Given the description of an element on the screen output the (x, y) to click on. 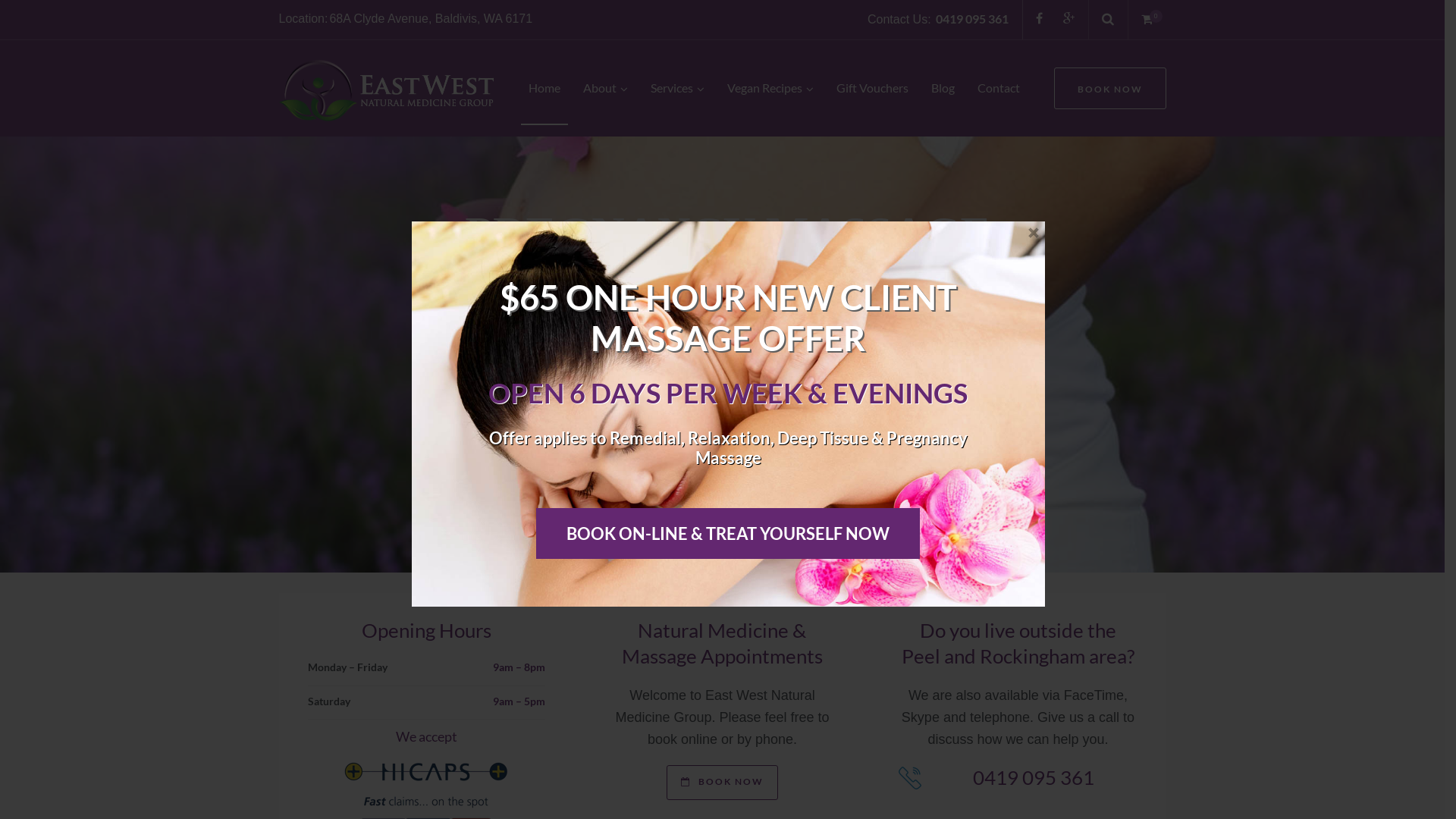
About Element type: text (604, 87)
Services Element type: text (677, 87)
BOOK NOW Element type: text (722, 782)
Home Element type: text (543, 87)
Gift Vouchers Element type: text (871, 87)
BOOK ON-LINE & TREAT YOURSELF NOW Element type: text (727, 533)
Blog Element type: text (942, 87)
Vegan Recipes Element type: text (769, 87)
0419 095 361 Element type: text (971, 18)
BOOK NOW Element type: text (1110, 87)
Contact Element type: text (997, 87)
0419 095 361 Element type: text (1033, 777)
